Given the description of an element on the screen output the (x, y) to click on. 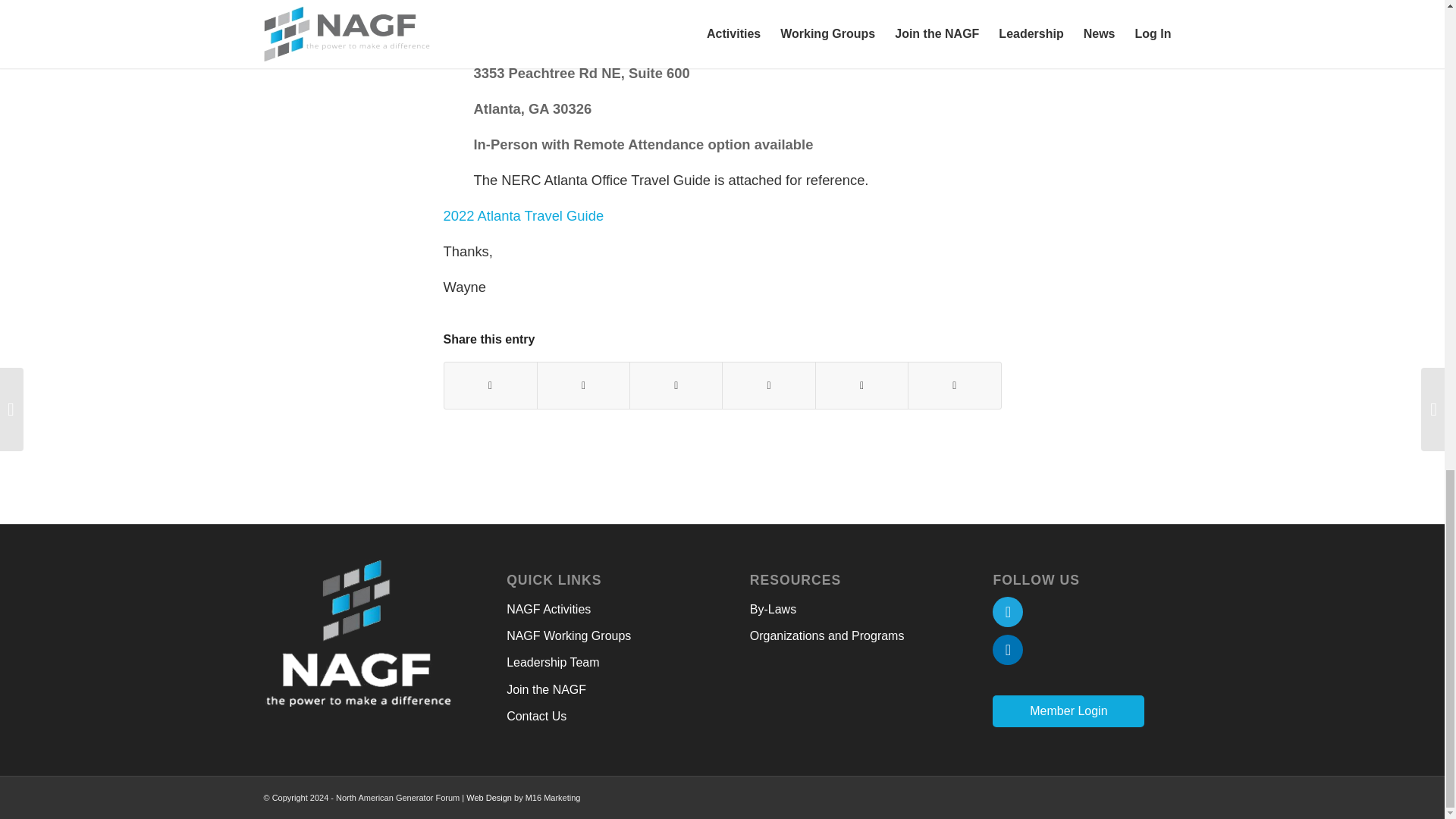
By-Laws (843, 610)
2022 Atlanta Travel Guide (523, 215)
Contact Us (600, 716)
Leadership Team (600, 663)
LinkedIn (1007, 649)
NAGF Activities (600, 610)
Organizations and Programs (843, 636)
X (1007, 612)
NAGF Working Groups (600, 636)
Web Design (488, 797)
Join the NAGF (600, 690)
Member Login (1068, 711)
